Given the description of an element on the screen output the (x, y) to click on. 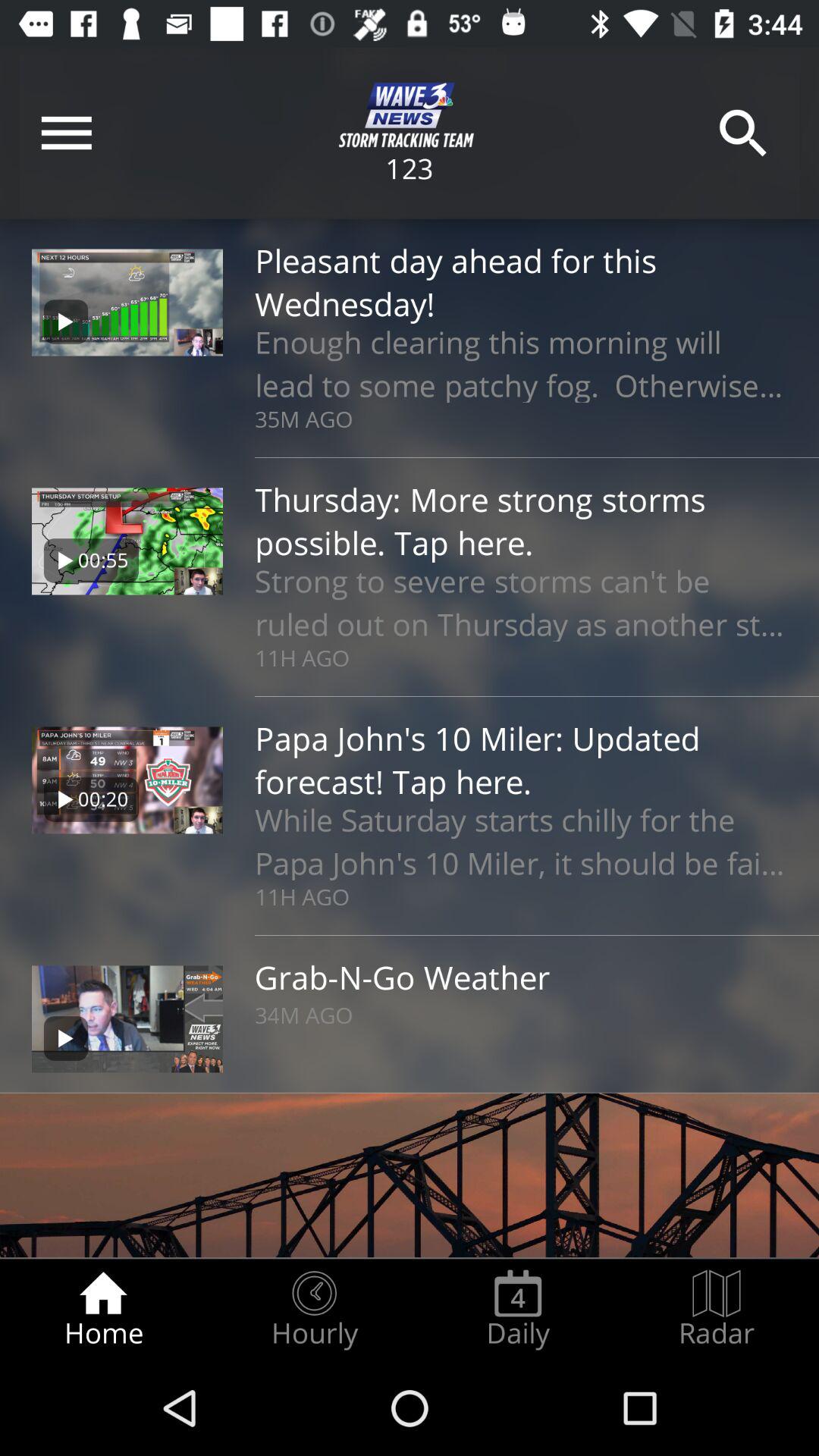
jump until the radar radio button (716, 1309)
